Given the description of an element on the screen output the (x, y) to click on. 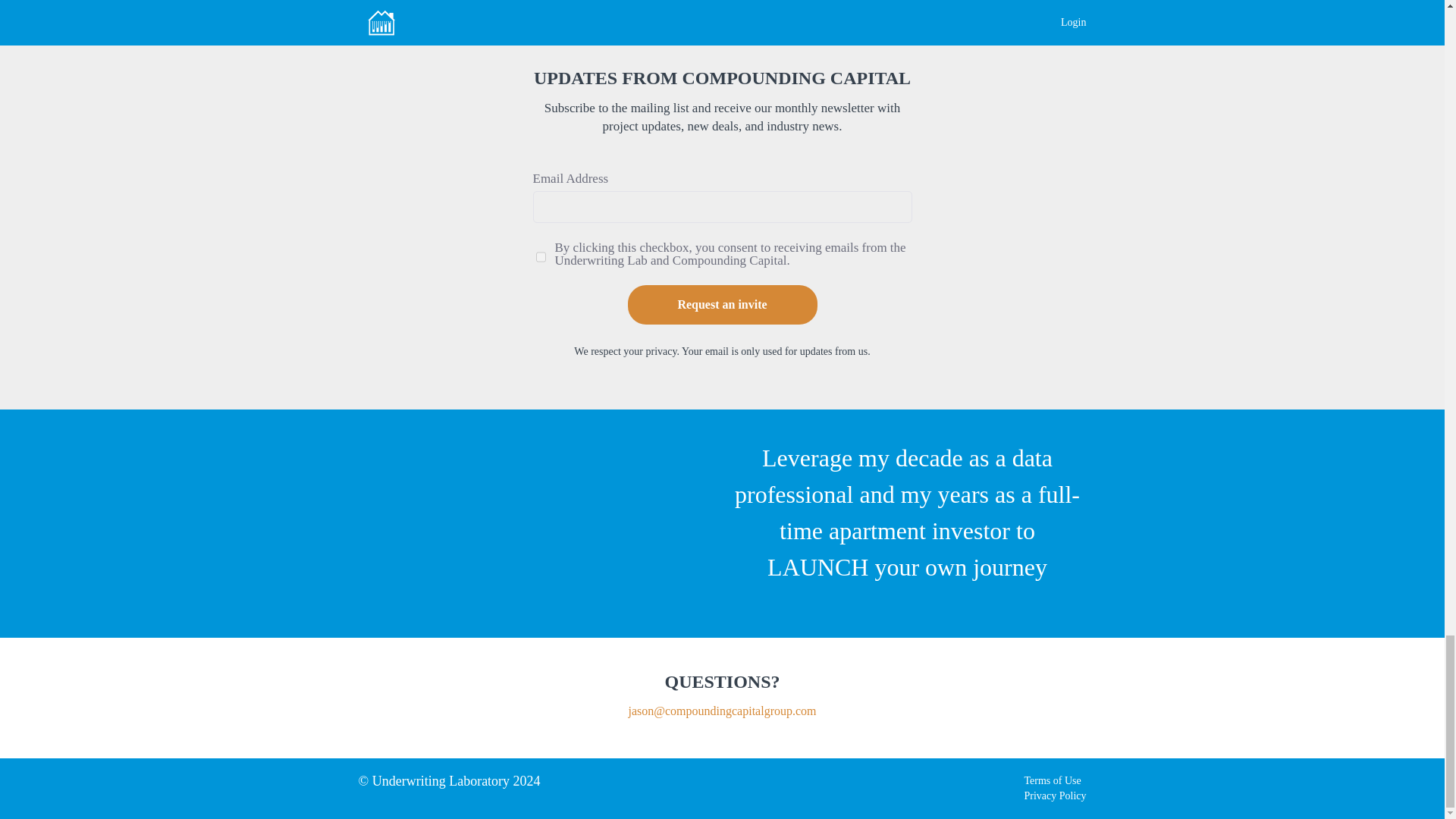
Request an invite (721, 304)
Terms of Use (1051, 780)
Privacy Policy (1054, 795)
